Given the description of an element on the screen output the (x, y) to click on. 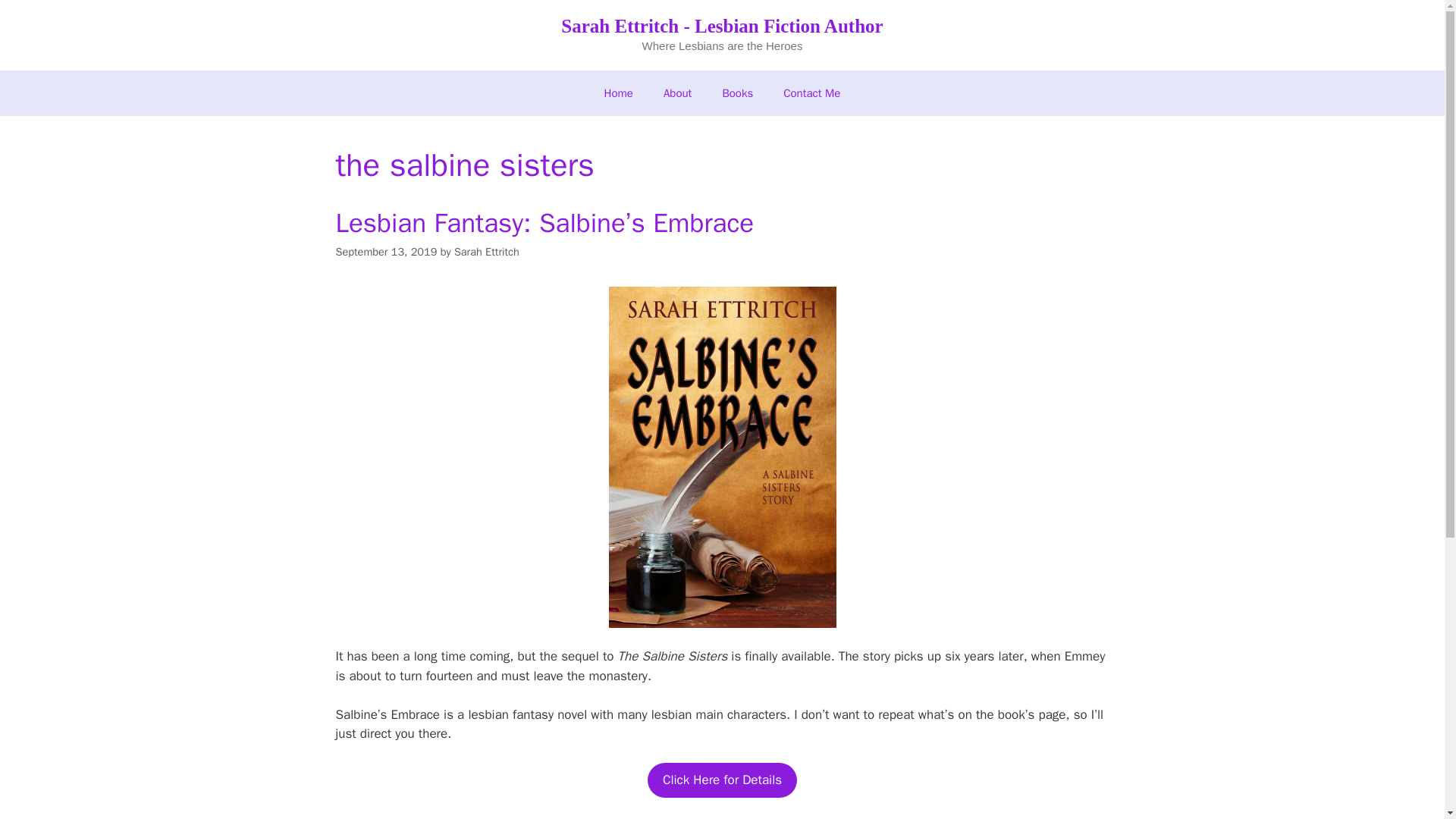
Click Here for Details (721, 779)
Sarah Ettritch (486, 251)
Sarah Ettritch - Lesbian Fiction Author (721, 25)
Contact Me (812, 92)
Home (618, 92)
About (676, 92)
View all posts by Sarah Ettritch (486, 251)
Books (737, 92)
